Given the description of an element on the screen output the (x, y) to click on. 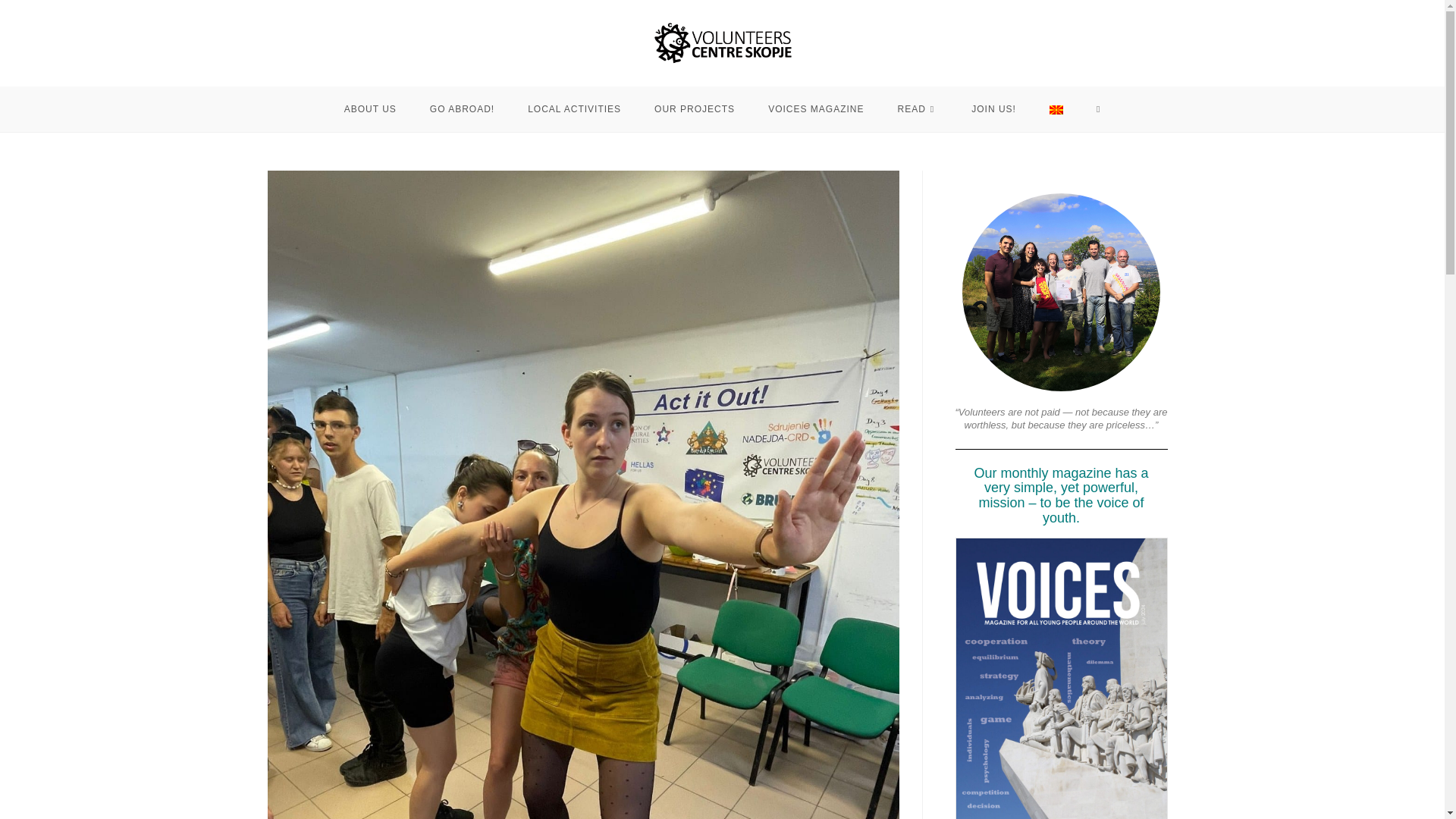
VOICES MAGAZINE (815, 108)
OUR PROJECTS (694, 108)
GO ABROAD! (462, 108)
JOIN US! (993, 108)
ABOUT US (370, 108)
LOCAL ACTIVITIES (574, 108)
READ (917, 108)
